Given the description of an element on the screen output the (x, y) to click on. 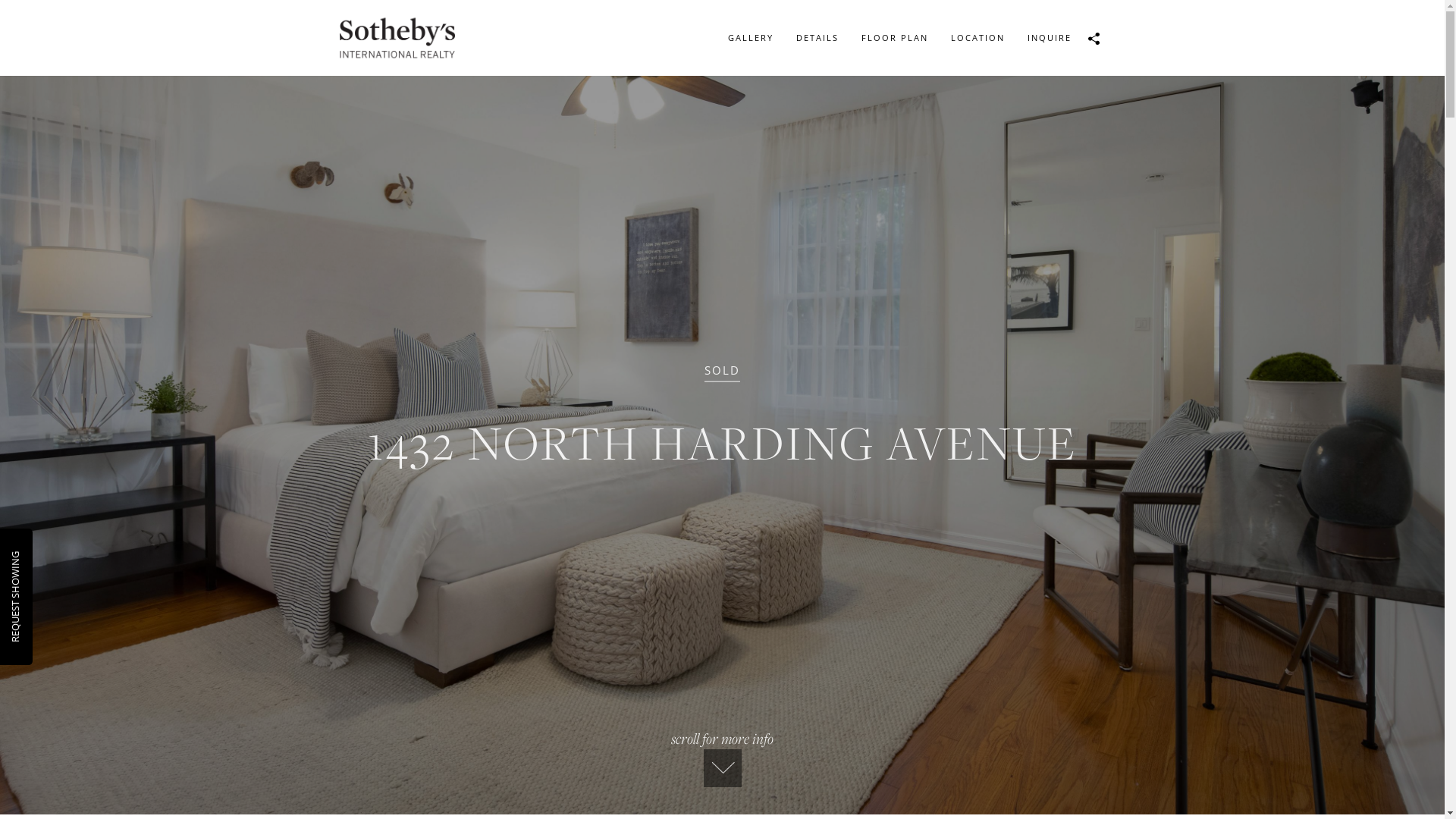
REQUEST SHOWING Element type: text (53, 557)
FLOOR PLAN Element type: text (893, 37)
LOCATION Element type: text (976, 37)
scroll for more info Element type: text (721, 757)
INQUIRE Element type: text (1049, 37)
DETAILS Element type: text (816, 37)
GALLERY Element type: text (749, 37)
